Given the description of an element on the screen output the (x, y) to click on. 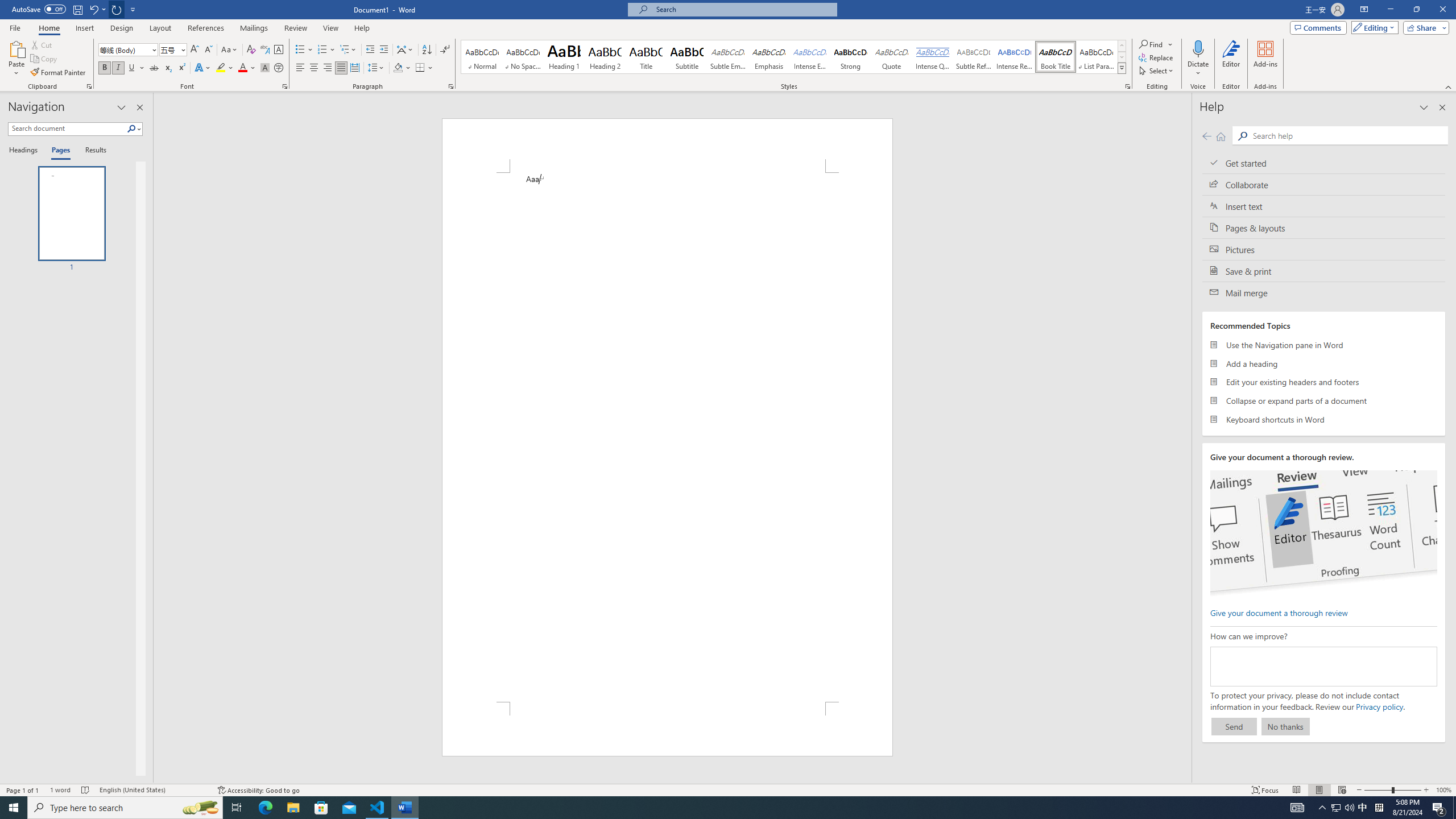
Distributed (354, 67)
Row Down (1121, 56)
Text Highlight Color Yellow (220, 67)
How can we improve? (1323, 666)
Search document (66, 128)
Search (1347, 135)
Close pane (139, 107)
No thanks (1285, 726)
Book Title (1055, 56)
Review (295, 28)
Font (124, 49)
Class: MsoCommandBar (728, 789)
Paragraph... (450, 85)
Close (1442, 9)
Line and Paragraph Spacing (376, 67)
